Given the description of an element on the screen output the (x, y) to click on. 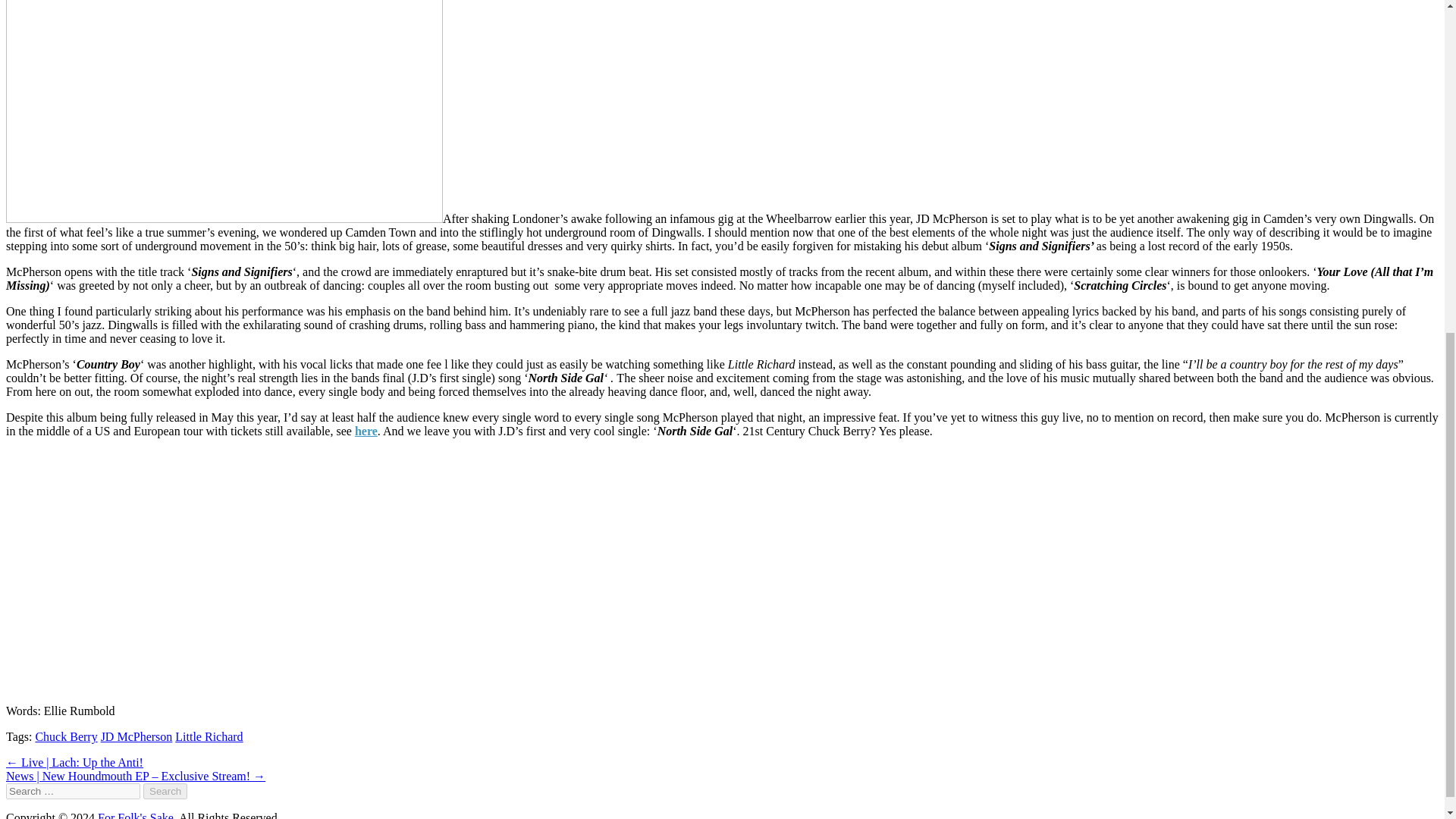
Search (164, 790)
JD McPherson (136, 736)
Chuck Berry (65, 736)
Little Richard (208, 736)
here (366, 431)
Search (164, 790)
Search (164, 790)
